Given the description of an element on the screen output the (x, y) to click on. 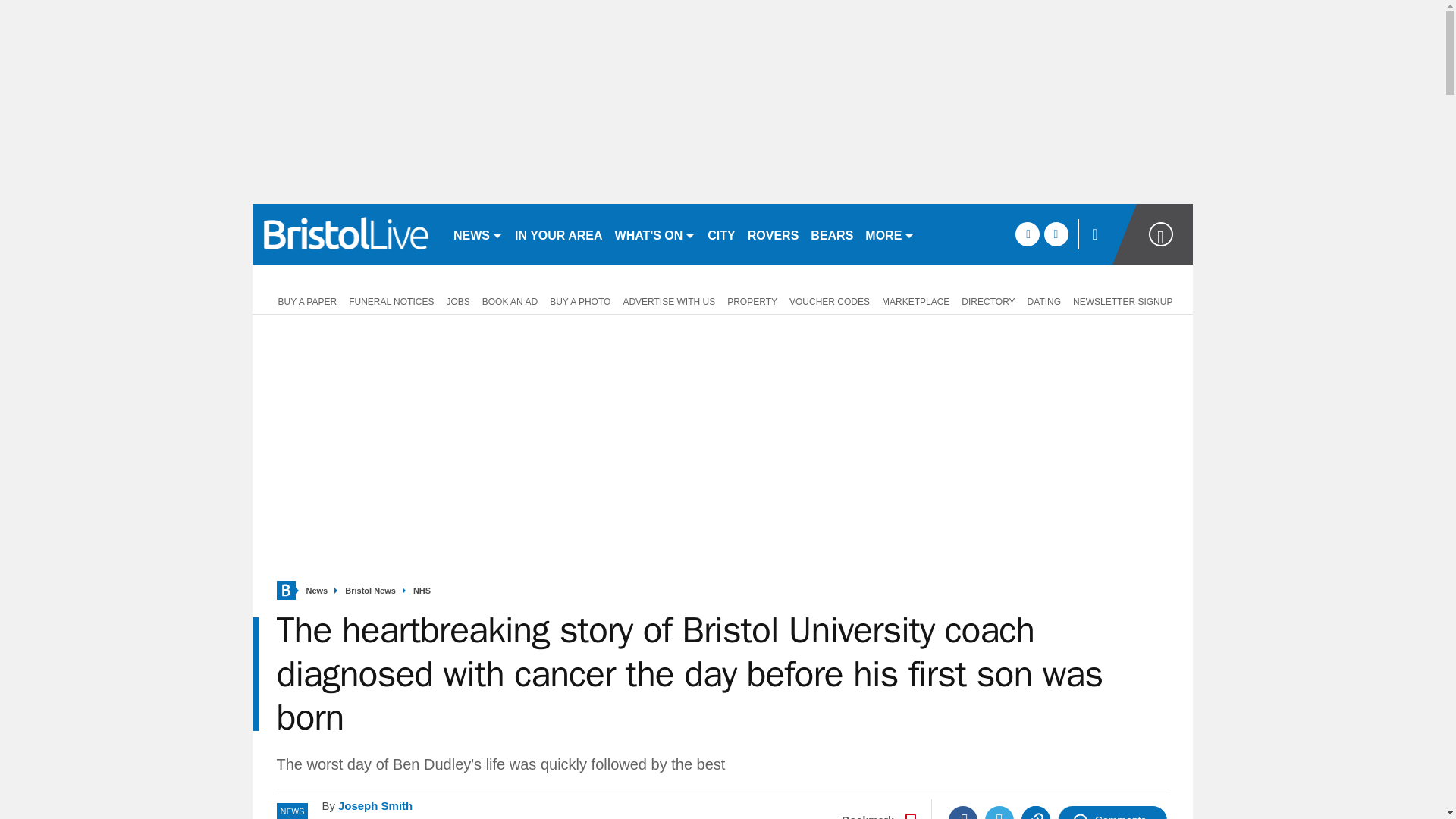
BEARS (832, 233)
WHAT'S ON (654, 233)
Twitter (999, 812)
NEWS (477, 233)
MORE (889, 233)
bristolpost (345, 233)
Facebook (962, 812)
twitter (1055, 233)
facebook (1026, 233)
Comments (1112, 812)
